Given the description of an element on the screen output the (x, y) to click on. 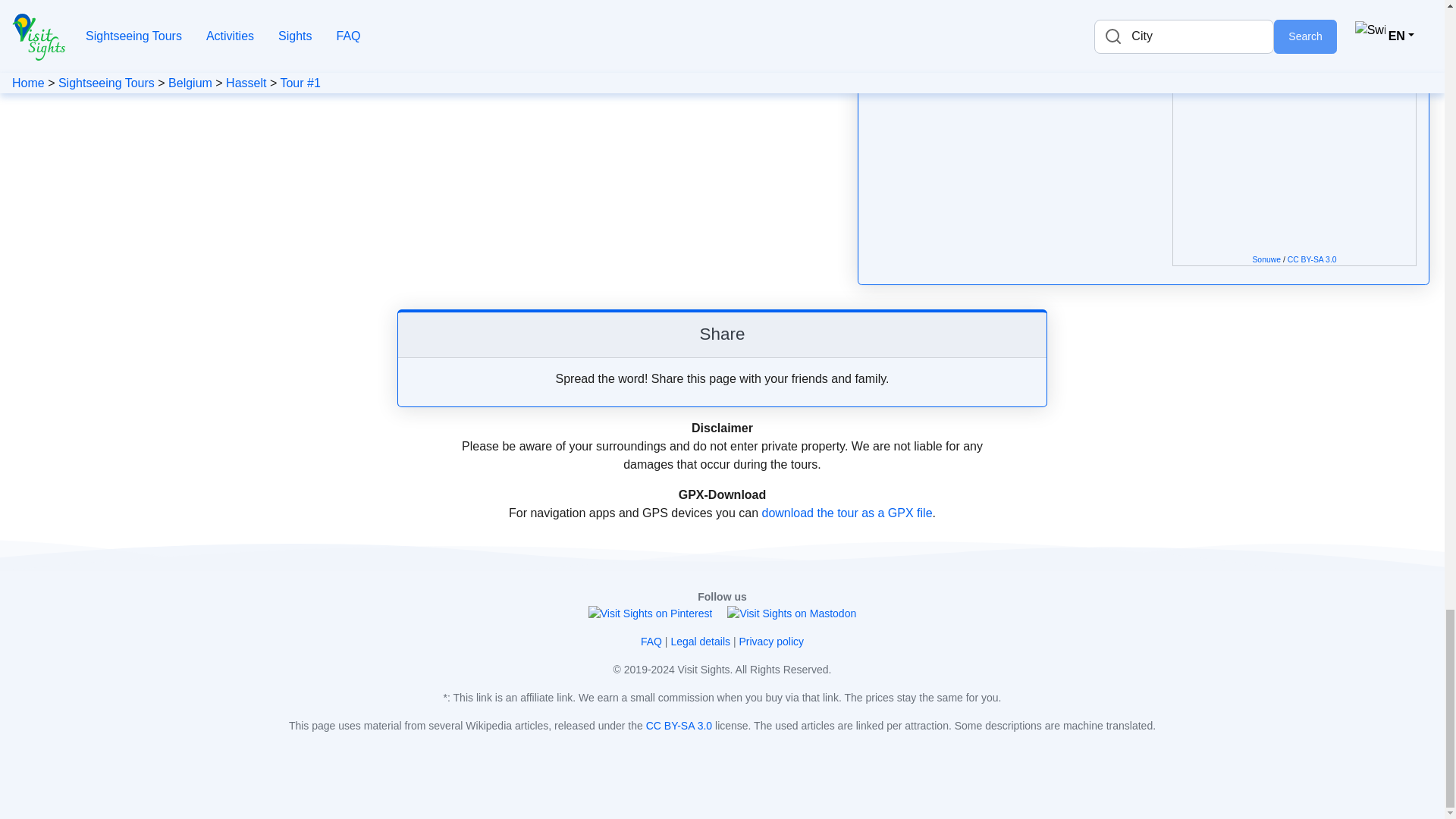
User:Sonuwe (1266, 259)
Visit Sights on Pinterest (650, 613)
Visit Sights on Mastodon (791, 613)
